Given the description of an element on the screen output the (x, y) to click on. 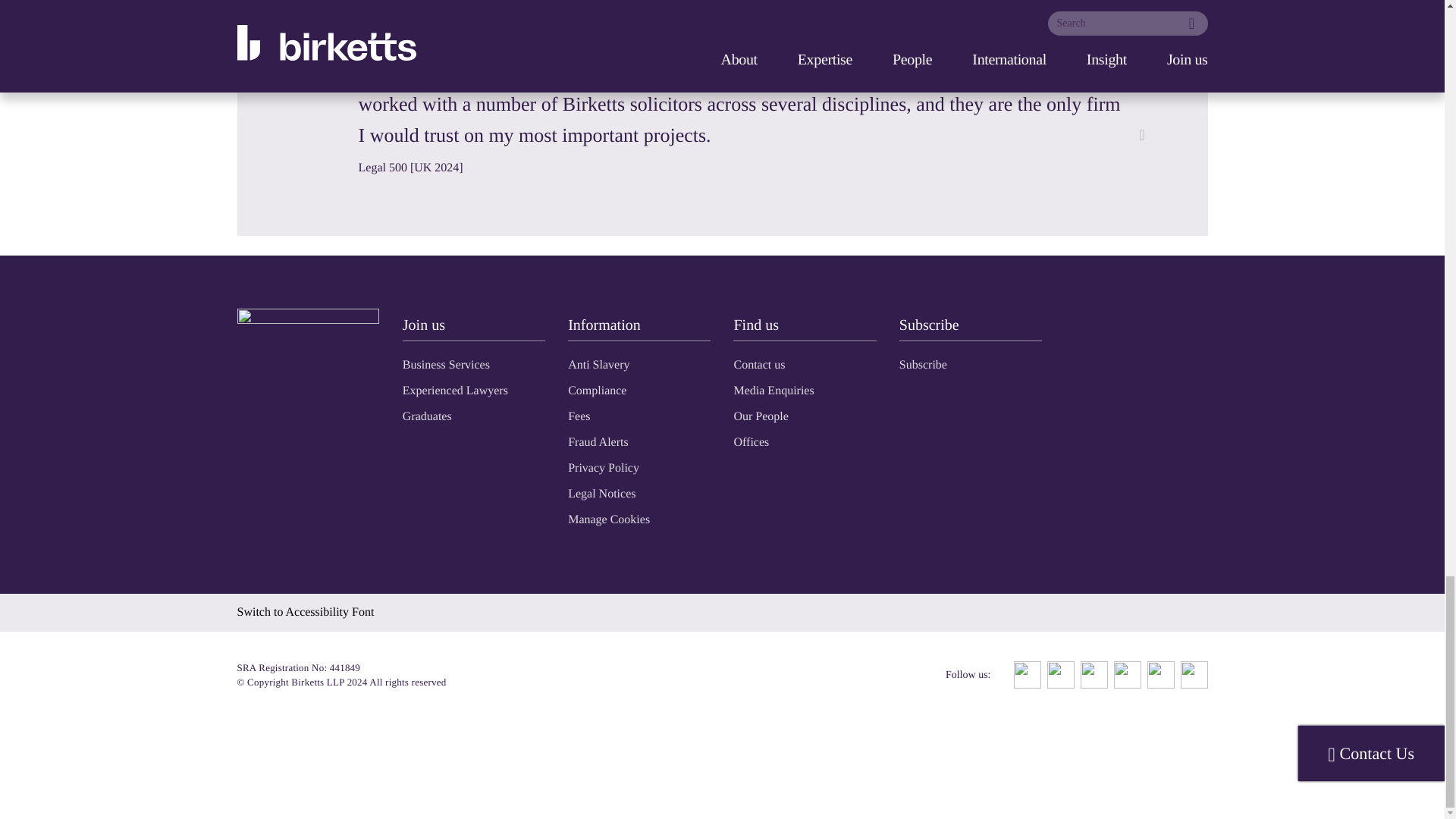
Contact us (758, 364)
Compliance (596, 390)
Subscribe (923, 364)
Anti Slavery  (597, 364)
Switch to Dyslexic friendly appearance (304, 612)
Media Enquiries (773, 390)
Manage Cookies (608, 519)
Fees (578, 416)
Graduates (427, 416)
Experienced Lawyers (455, 390)
